Given the description of an element on the screen output the (x, y) to click on. 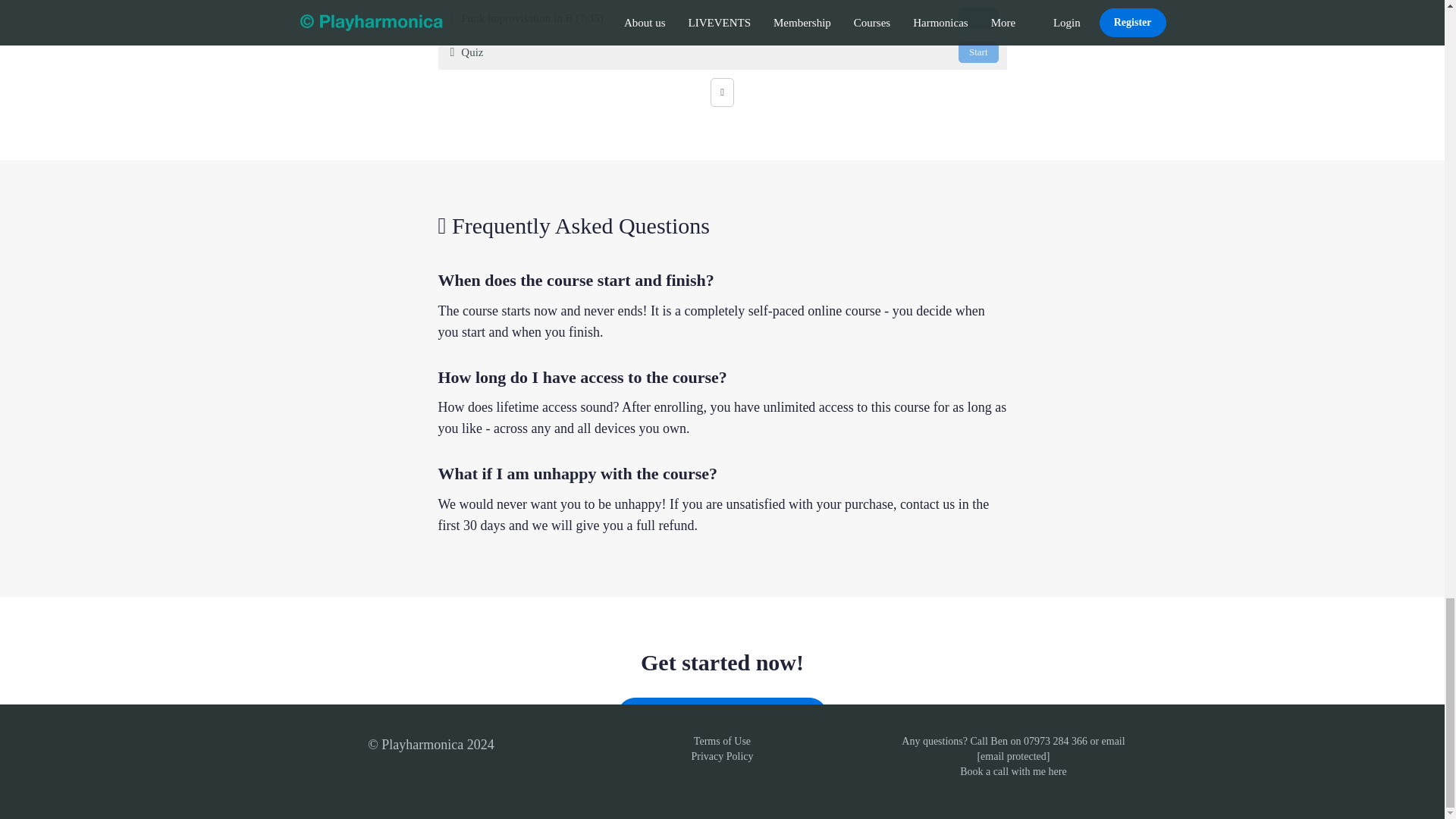
Privacy Policy (721, 756)
Terms of Use (722, 740)
